Given the description of an element on the screen output the (x, y) to click on. 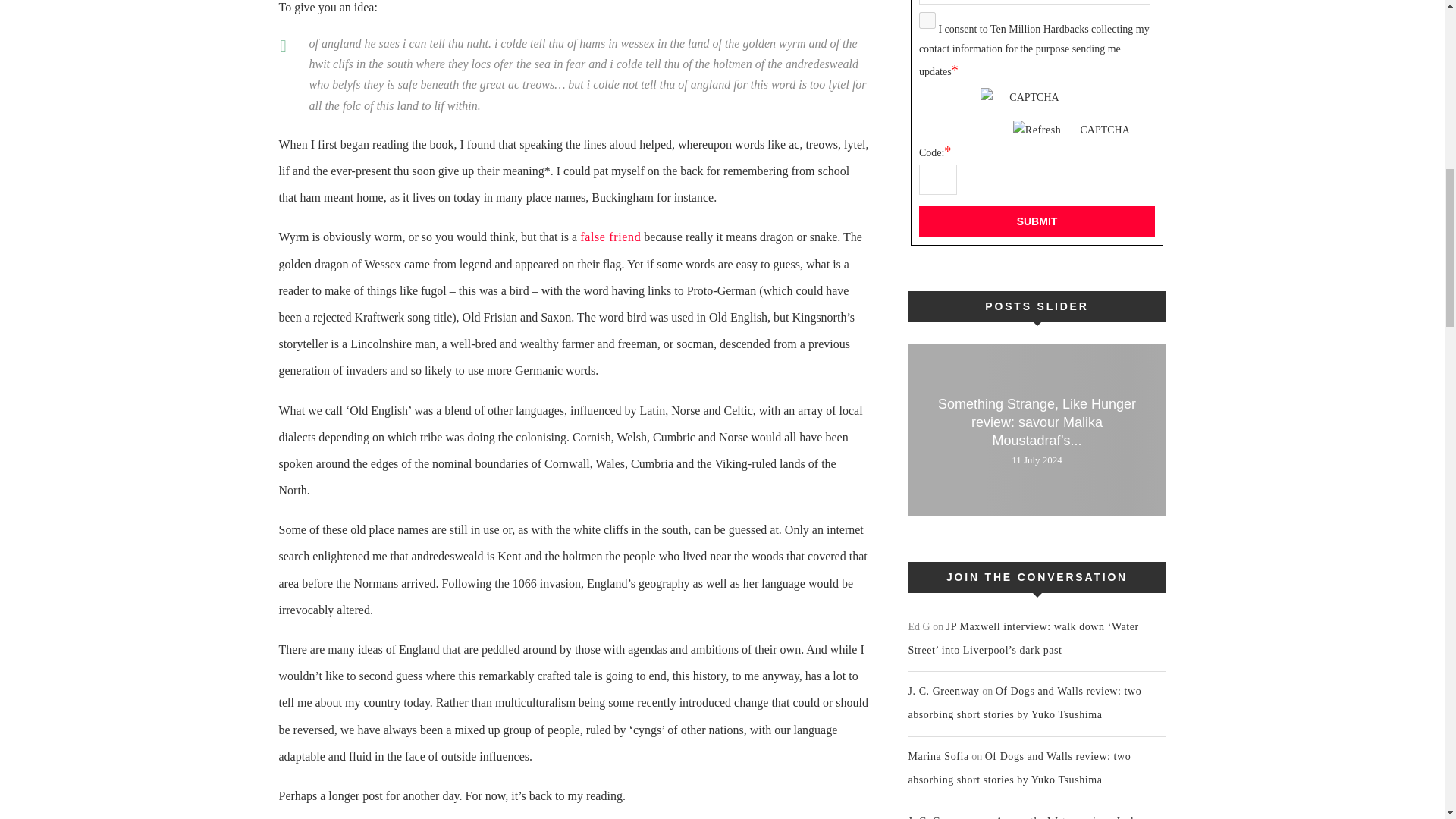
Submit (1036, 221)
